Given the description of an element on the screen output the (x, y) to click on. 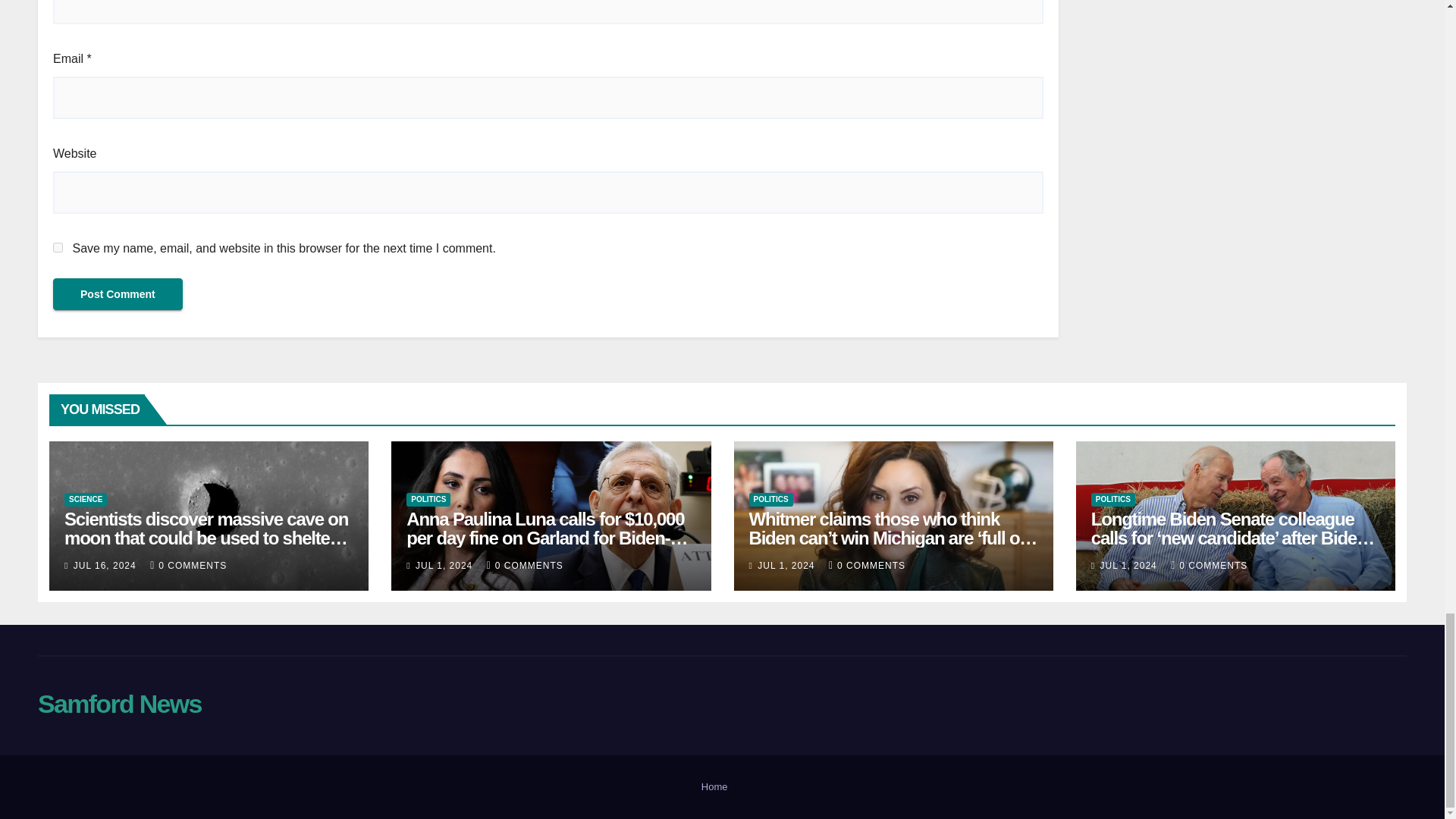
Post Comment (117, 294)
yes (57, 247)
Post Comment (117, 294)
